Given the description of an element on the screen output the (x, y) to click on. 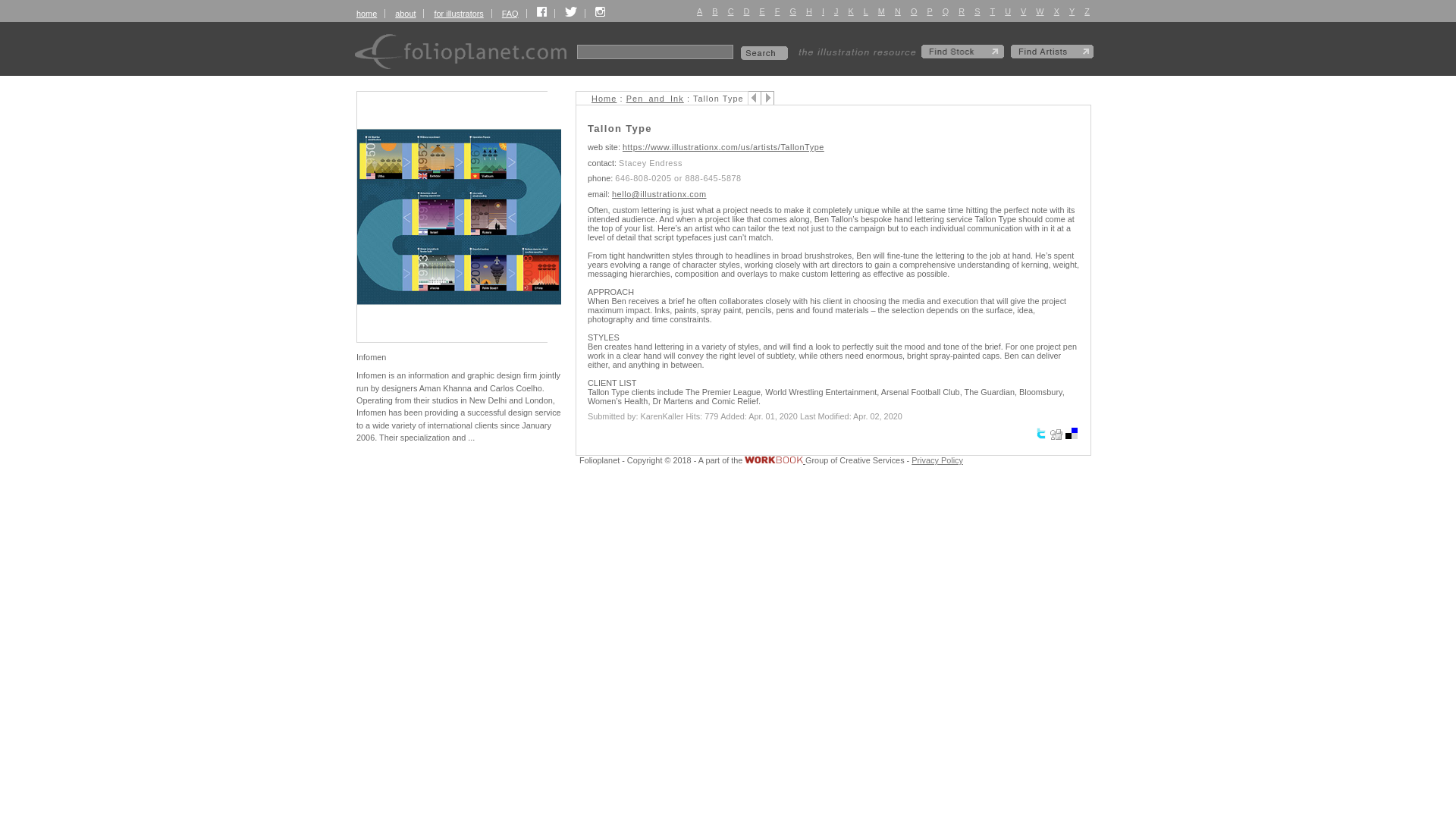
for illustrators (458, 13)
home (366, 13)
about (404, 13)
FAQ (510, 13)
